Given the description of an element on the screen output the (x, y) to click on. 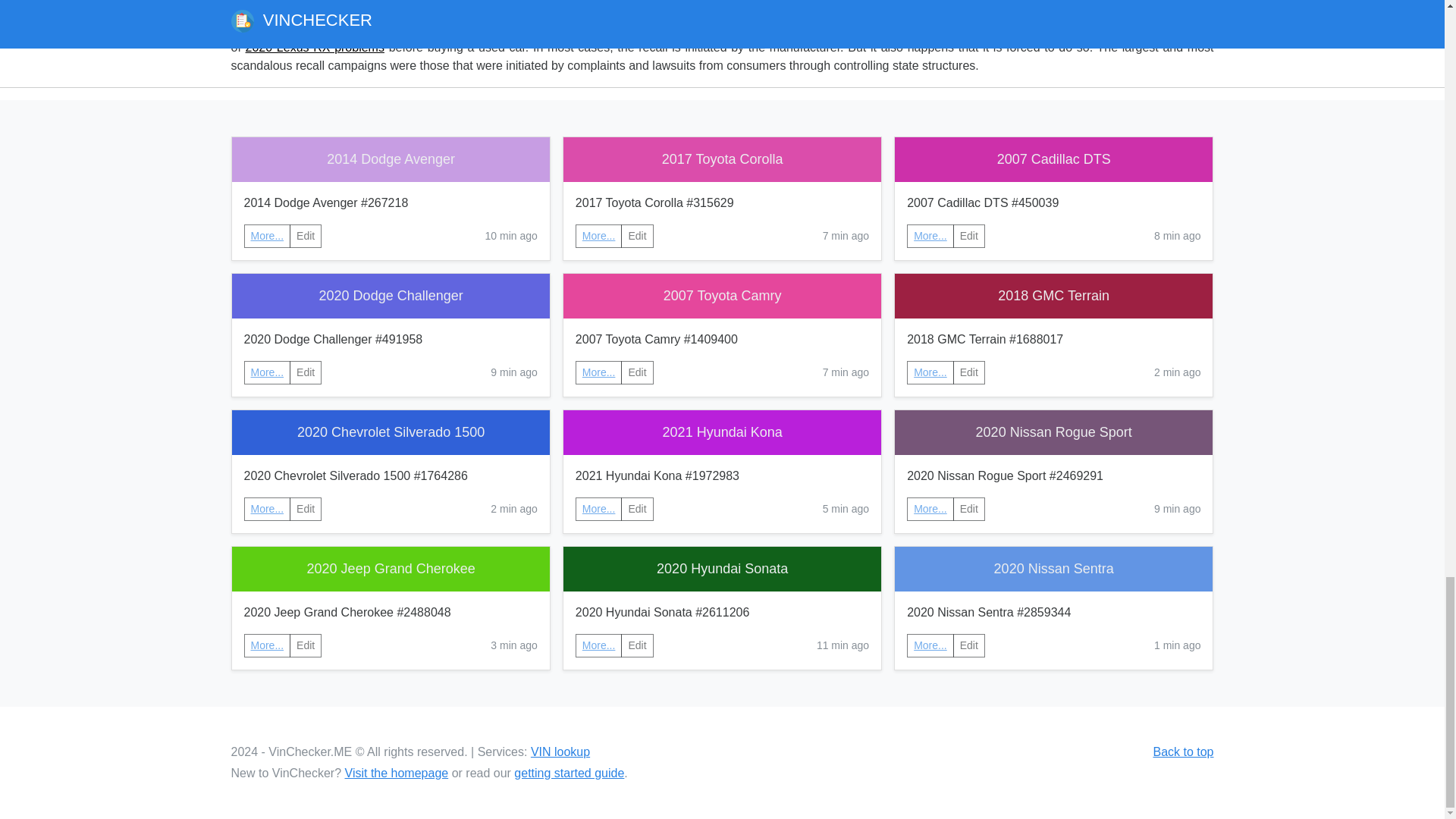
More... (266, 645)
More... (267, 645)
More... (930, 508)
Edit (305, 372)
More... (930, 236)
More... (266, 235)
Edit (636, 236)
More... (267, 372)
More... (930, 508)
Edit (636, 372)
VIN lookup (560, 751)
2014 Dodge Avenger (390, 159)
2020 Jeep Grand Cherokee (390, 569)
2017 Toyota Corolla (721, 159)
More... (598, 508)
